Given the description of an element on the screen output the (x, y) to click on. 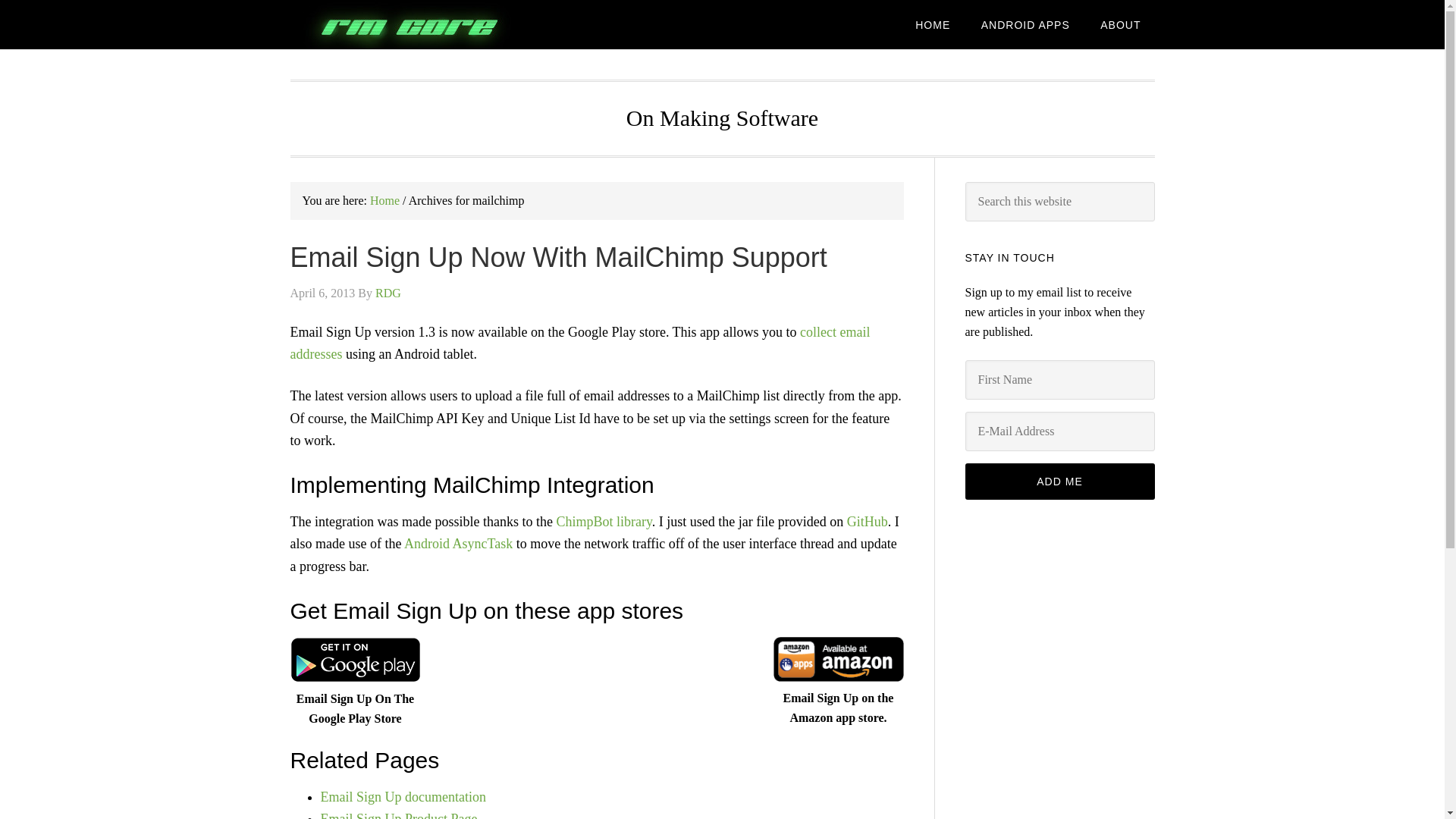
Home (383, 200)
Add Me (1058, 481)
EmailSignUp (579, 342)
HOME (932, 24)
asynctask tutorial (458, 543)
RDG (388, 292)
Android AsyncTask (458, 543)
Add Me (1058, 481)
ChimpBot android library on github (867, 521)
